Given the description of an element on the screen output the (x, y) to click on. 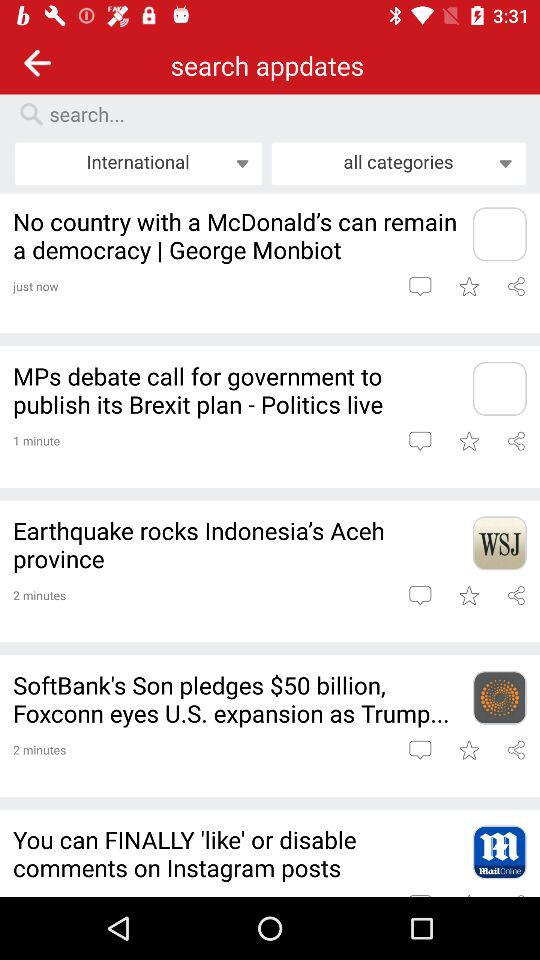
share button (515, 595)
